Given the description of an element on the screen output the (x, y) to click on. 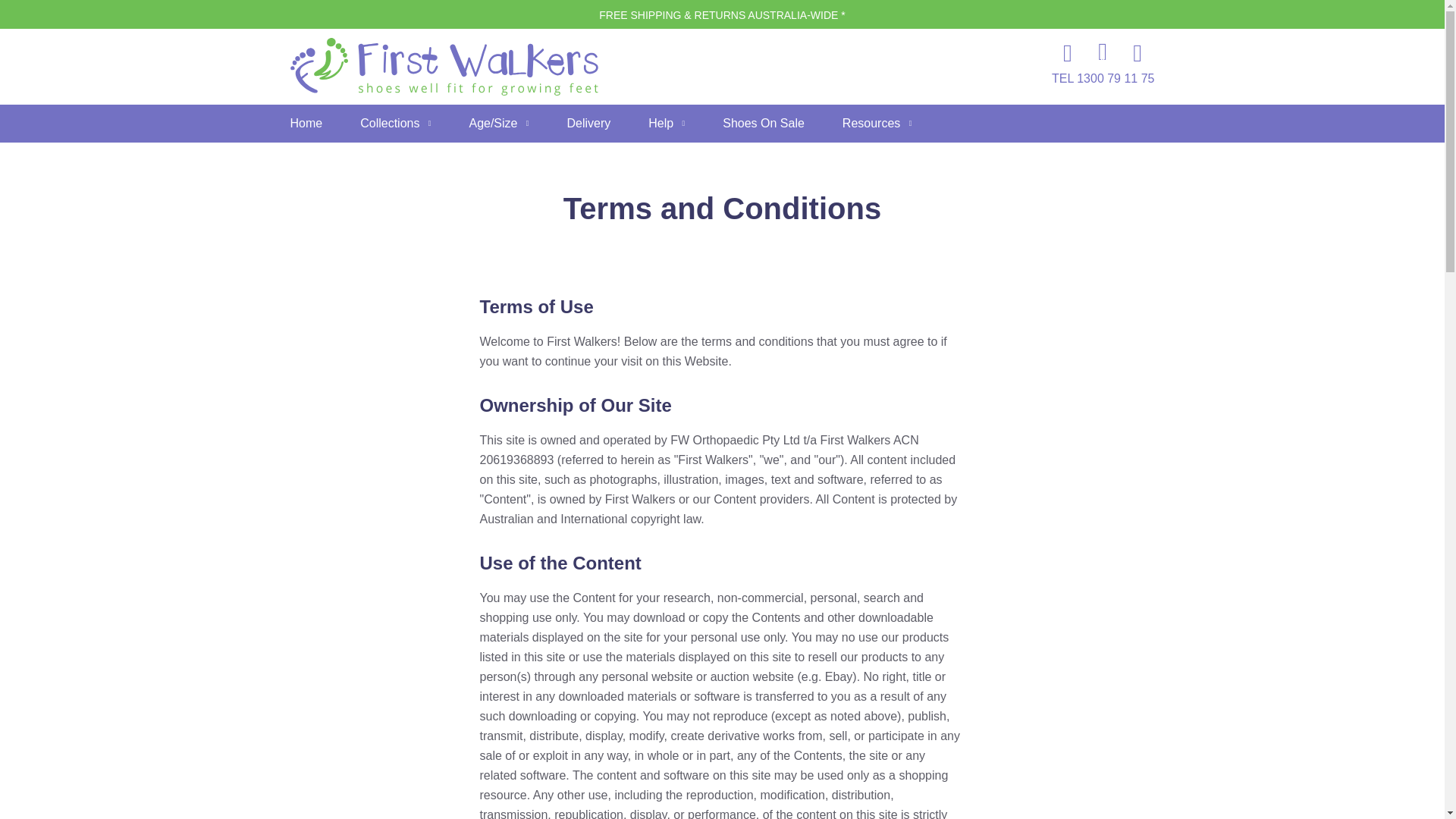
Shoes On Sale (763, 123)
Collections (394, 123)
Home (305, 123)
Resources (877, 123)
Delivery (589, 123)
Help (665, 123)
